Given the description of an element on the screen output the (x, y) to click on. 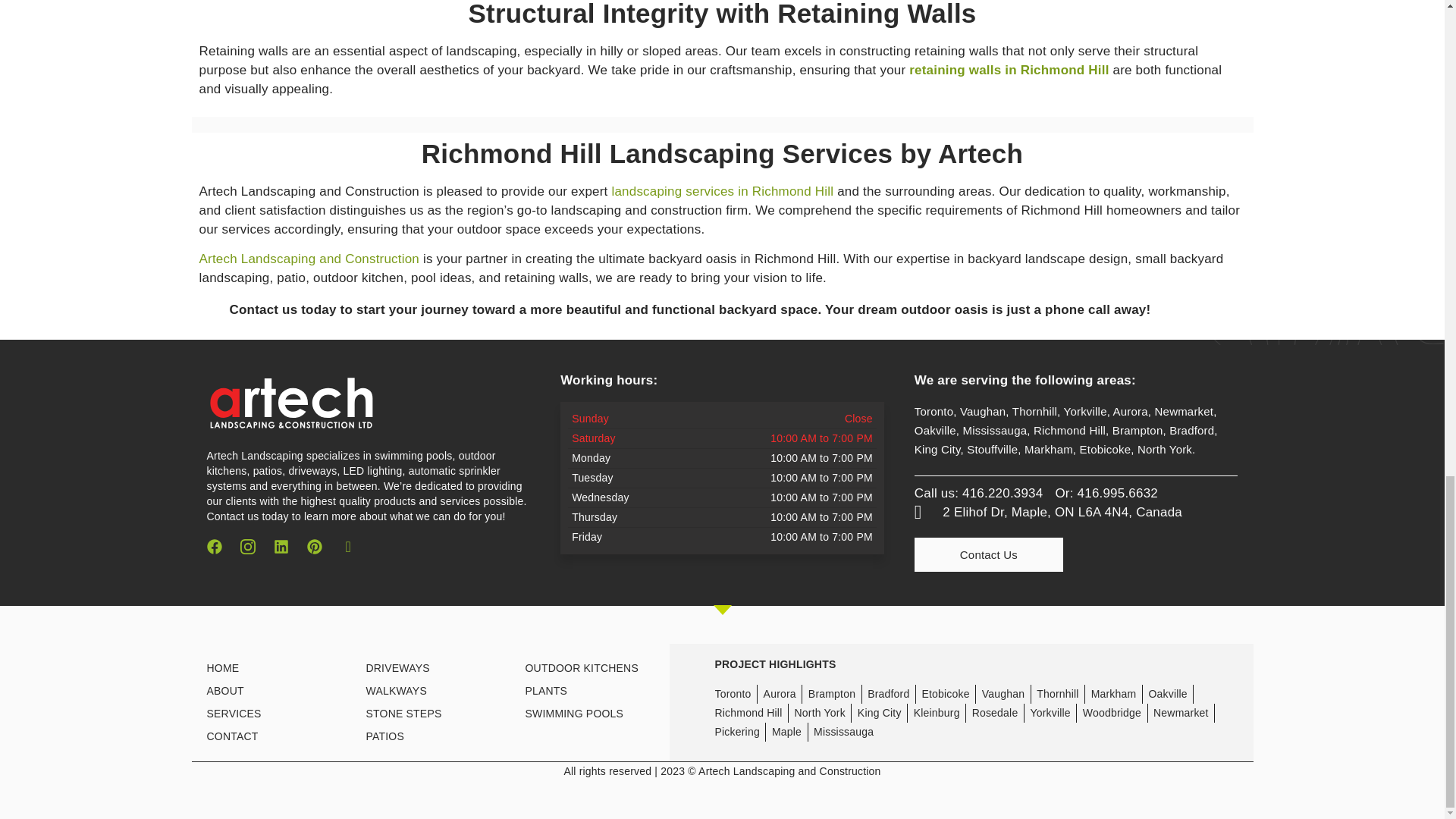
Landscaping in Toronto (308, 258)
